Given the description of an element on the screen output the (x, y) to click on. 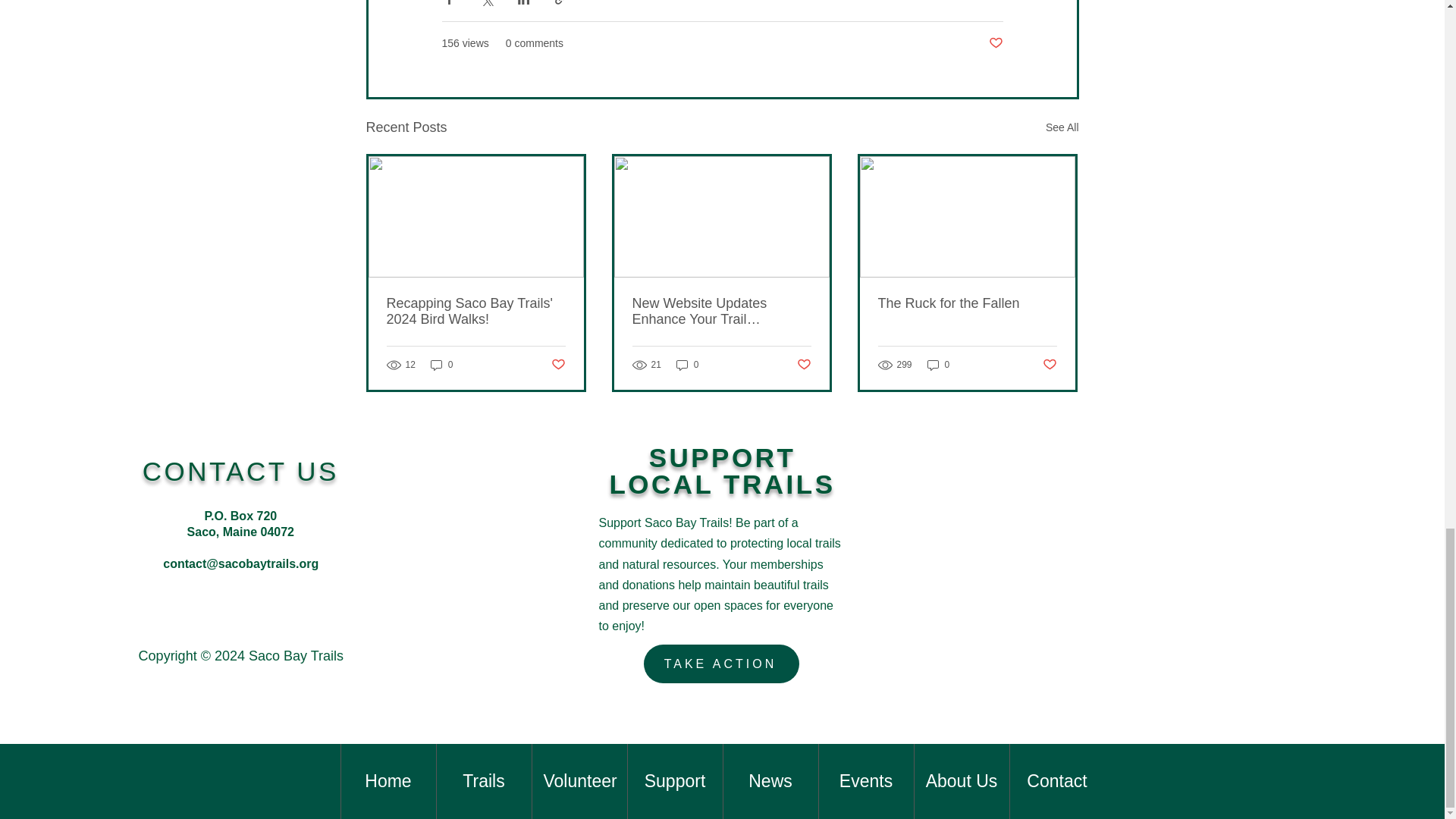
0 (441, 364)
Post not marked as liked (995, 43)
Recapping Saco Bay Trails' 2024 Bird Walks! (476, 311)
See All (1061, 127)
Post not marked as liked (557, 365)
